Given the description of an element on the screen output the (x, y) to click on. 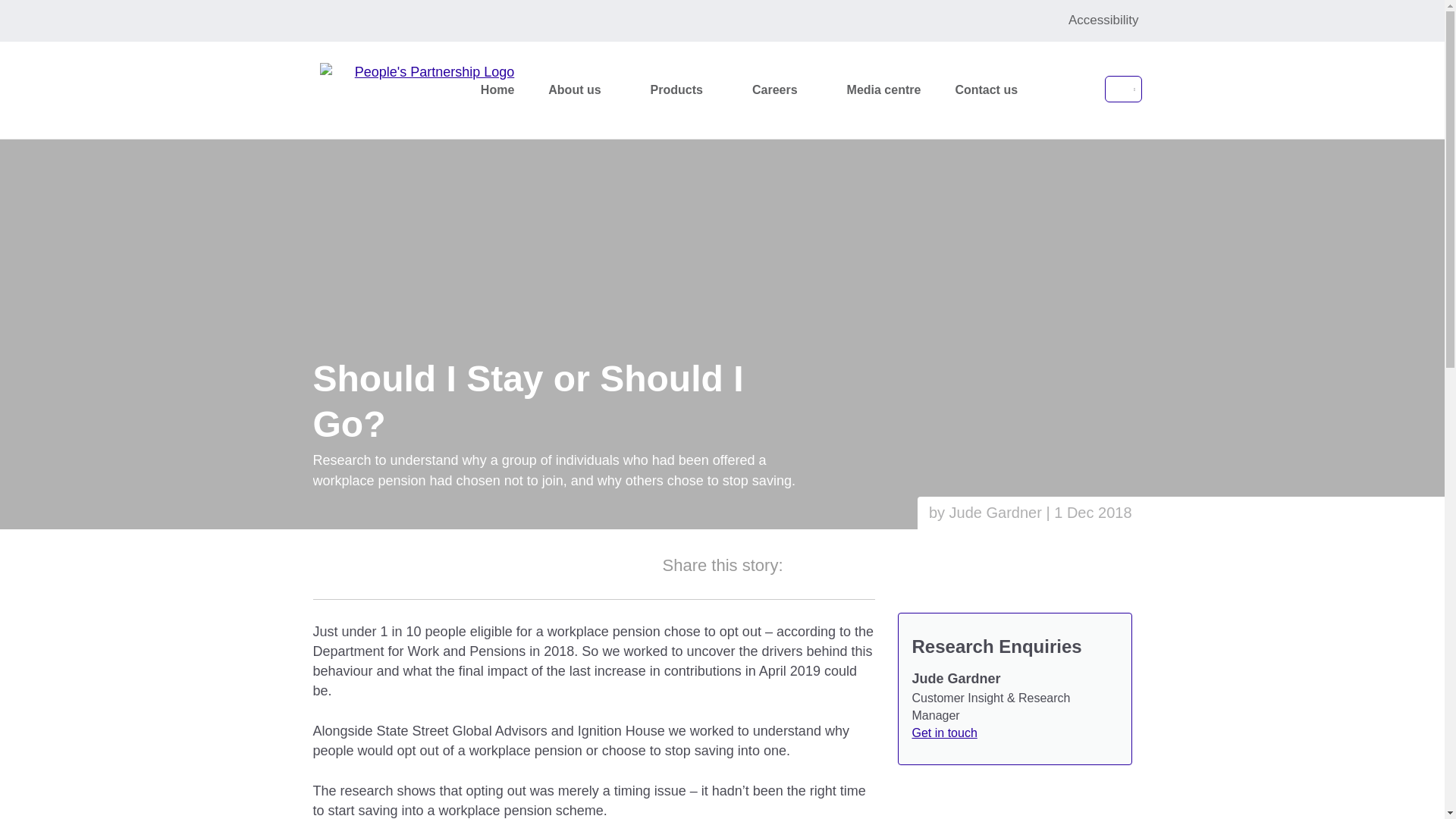
About us (584, 90)
Careers (784, 90)
Search (1038, 185)
Accessibility (1103, 20)
Media centre (885, 90)
Contact us (988, 90)
Home (499, 90)
Get in touch (943, 732)
Products (686, 90)
